Given the description of an element on the screen output the (x, y) to click on. 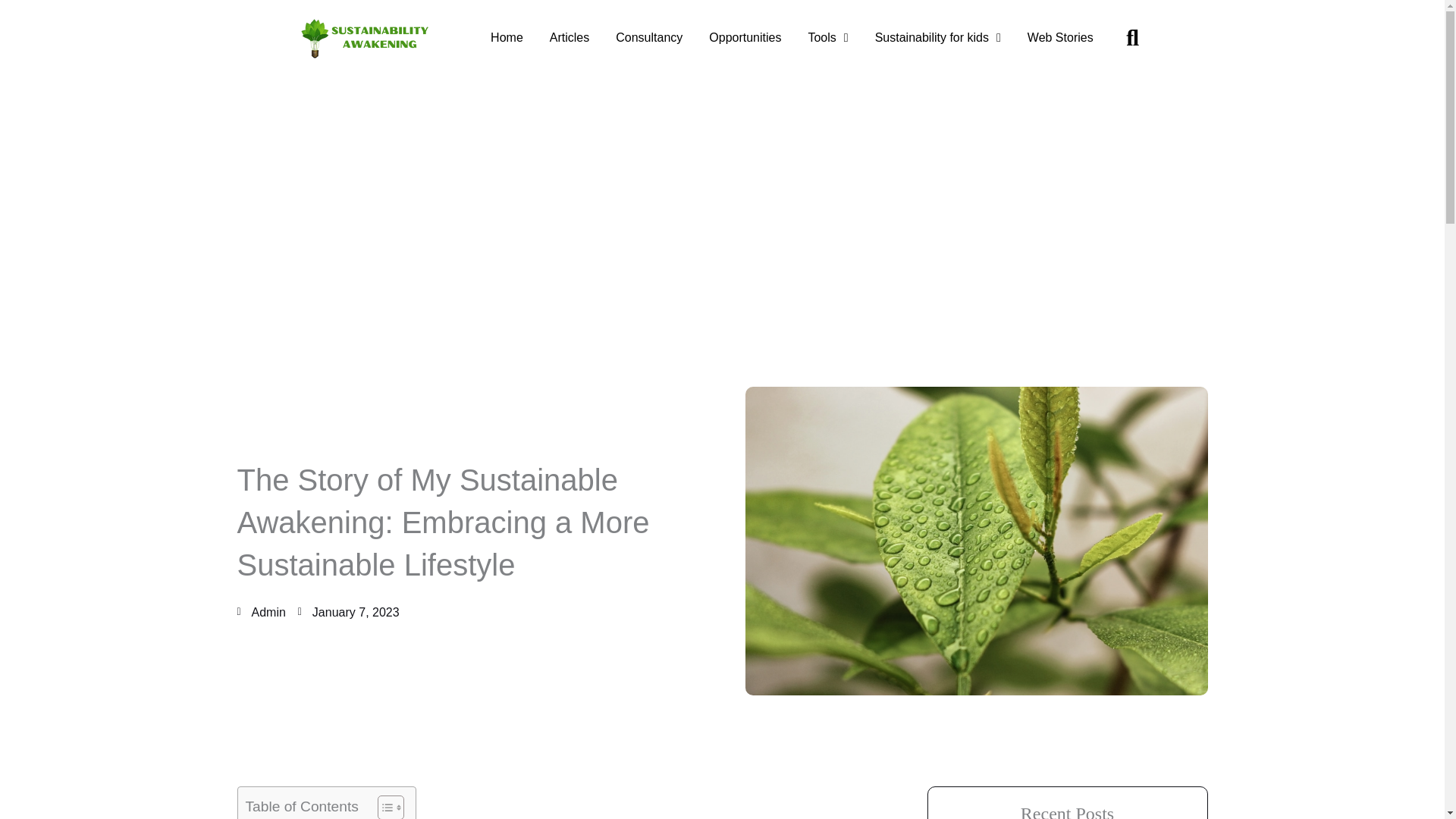
Sustainability for kids (938, 37)
Home (507, 37)
Web Stories (1060, 37)
Tools (827, 37)
Articles (568, 37)
Opportunities (745, 37)
Consultancy (649, 37)
